Given the description of an element on the screen output the (x, y) to click on. 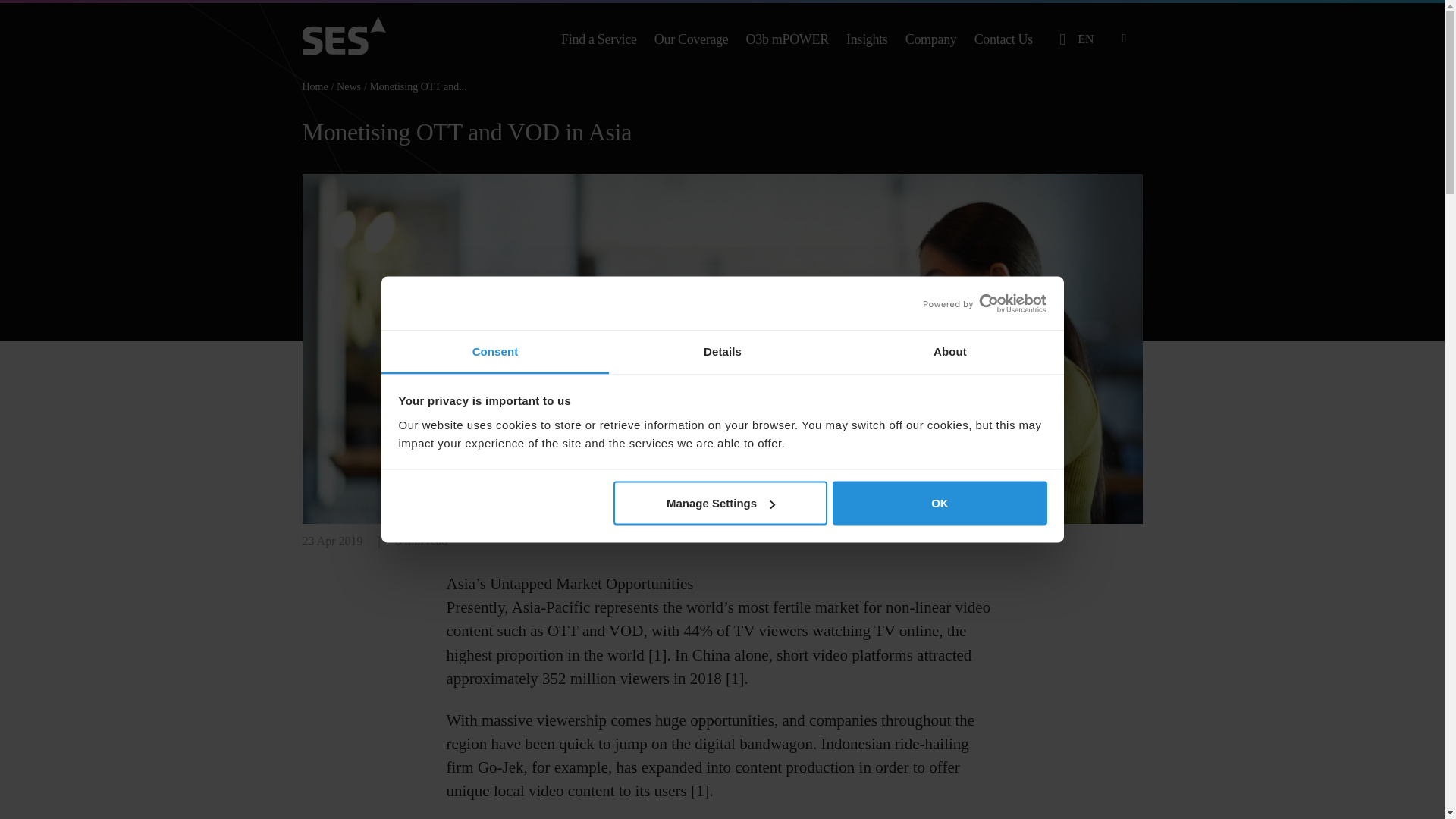
About (948, 351)
Tuesday, April 23, 2019 - 02:32 (331, 540)
Details (721, 351)
Consent (494, 351)
